Given the description of an element on the screen output the (x, y) to click on. 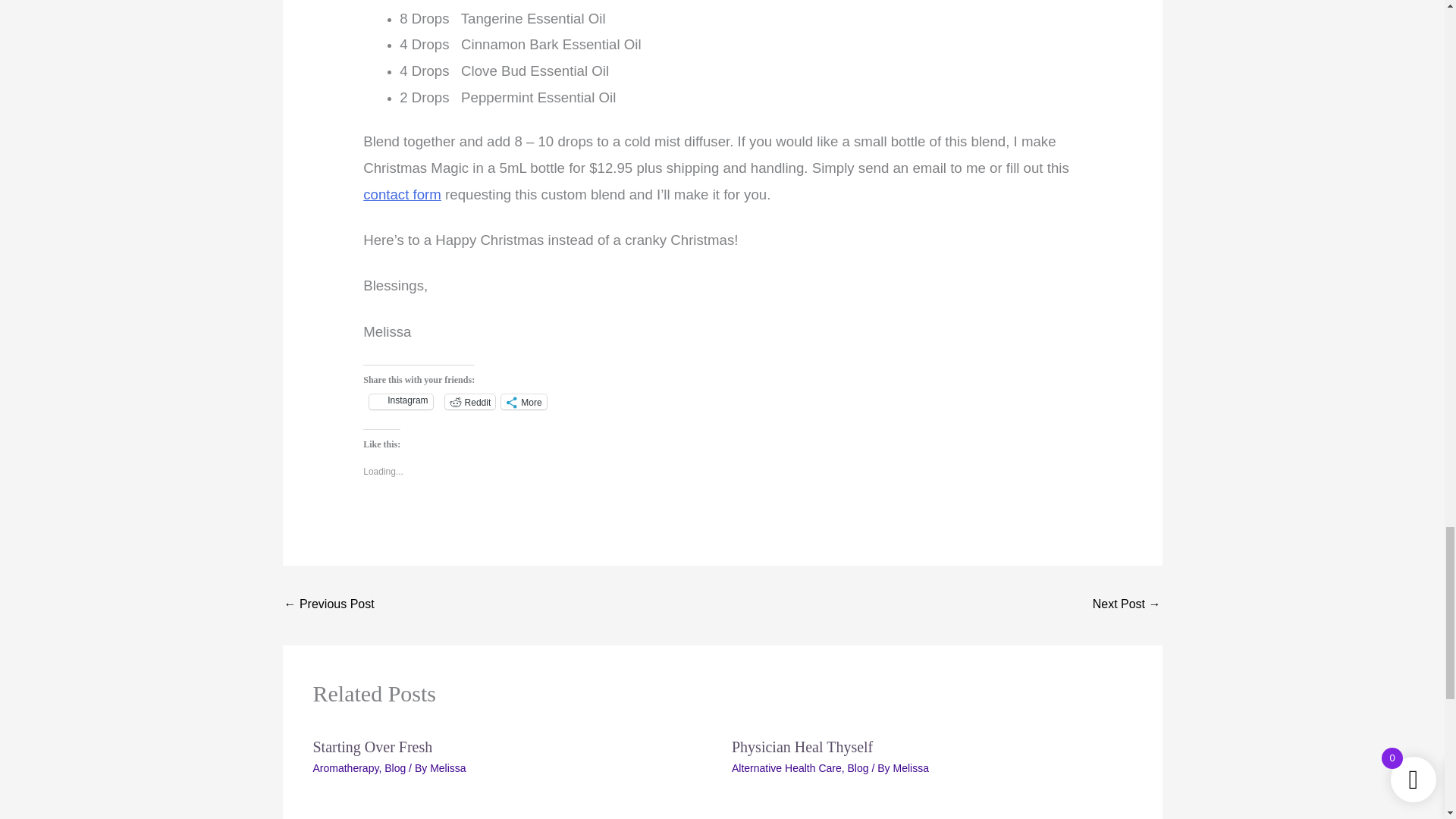
Vaginal Dryness - Nothing To Laugh At (328, 605)
Click to share on Instagram (400, 401)
Click to share on Reddit (470, 401)
Clutter, Clutter Everywhere and No Place To Put It (1126, 605)
View all posts by Melissa (447, 767)
View all posts by Melissa (910, 767)
